Given the description of an element on the screen output the (x, y) to click on. 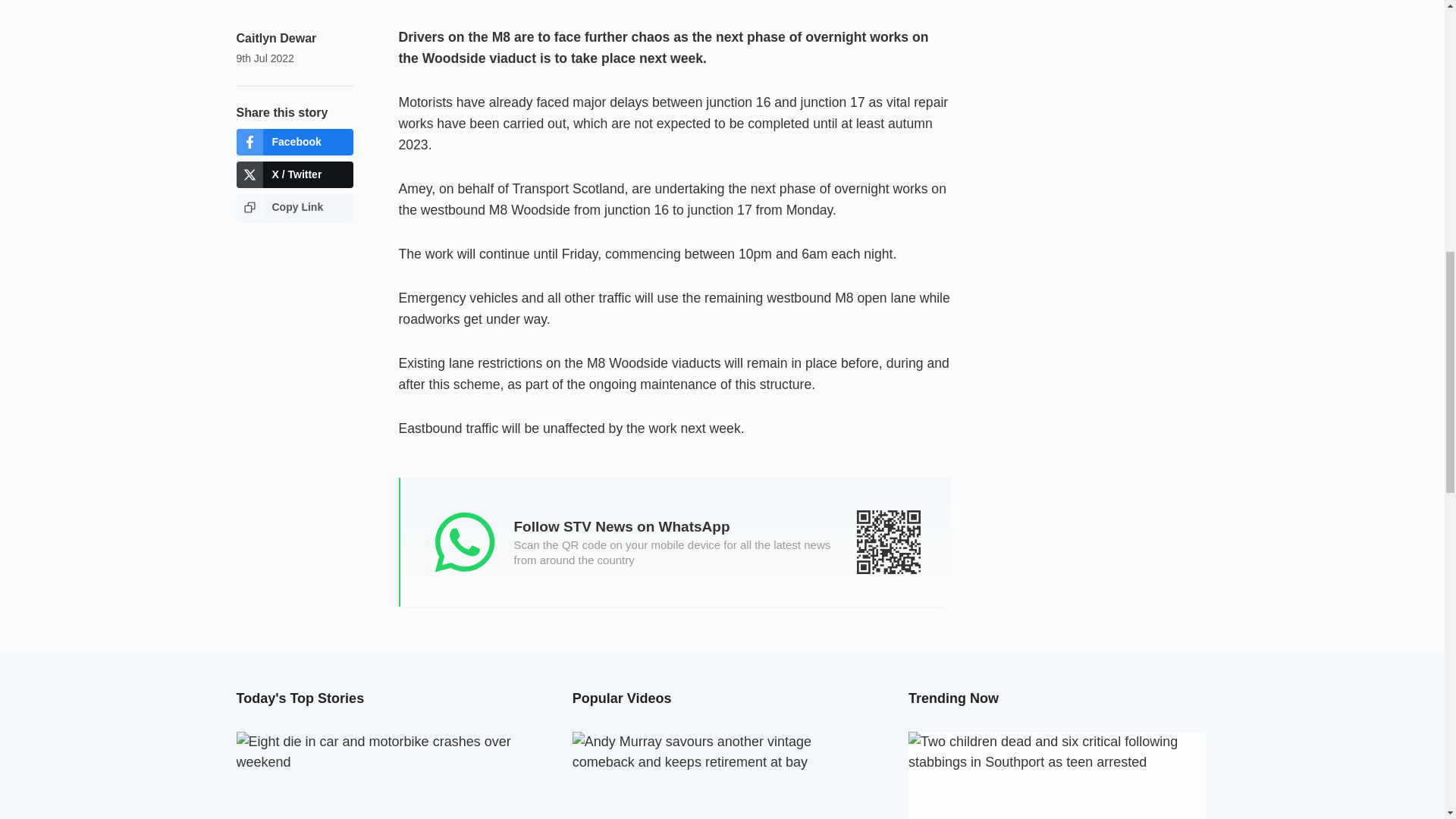
Facebook (294, 141)
Caitlyn Dewar (276, 38)
